Given the description of an element on the screen output the (x, y) to click on. 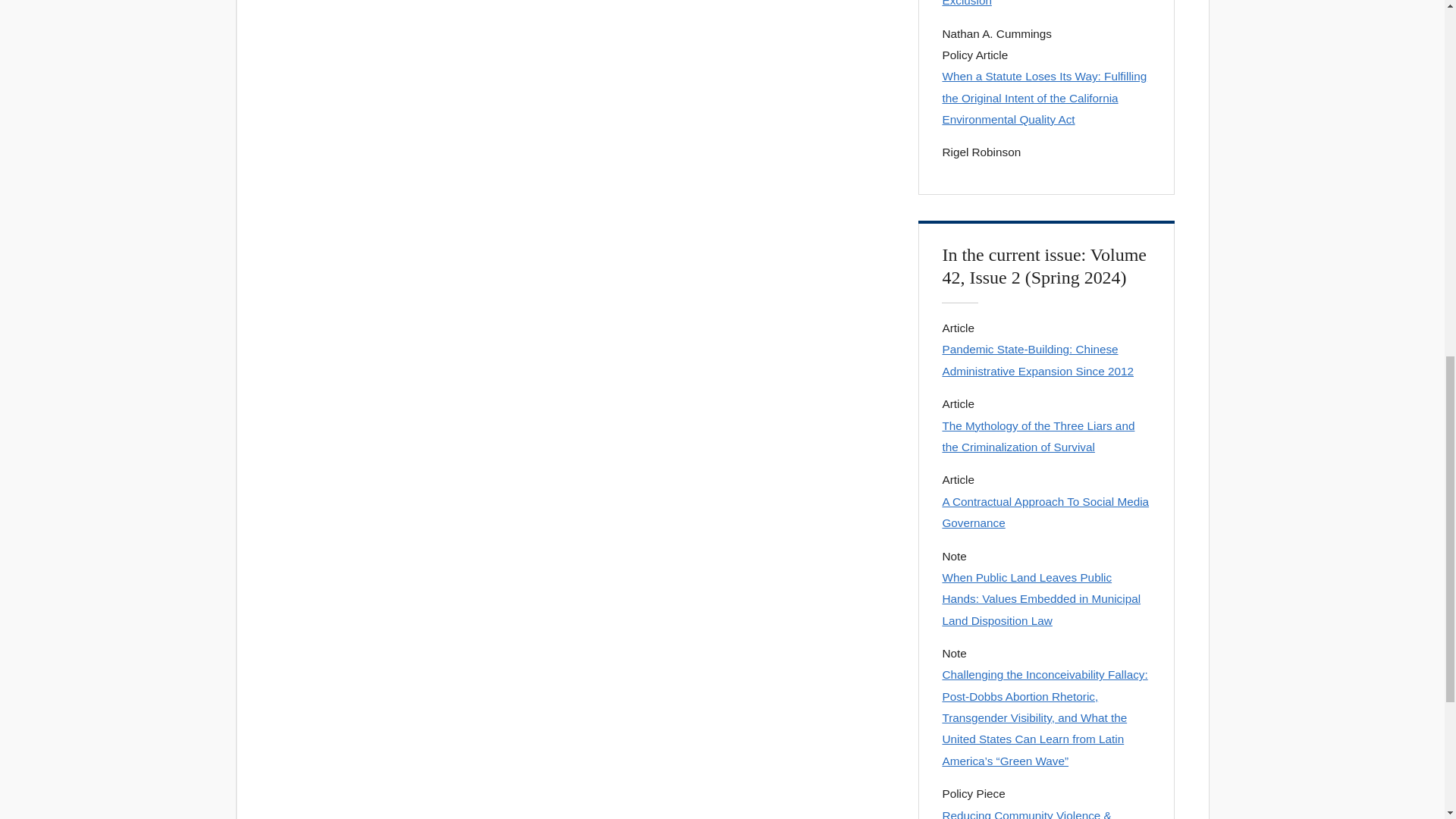
A Contractual Approach To Social Media Governance (1046, 512)
